Given the description of an element on the screen output the (x, y) to click on. 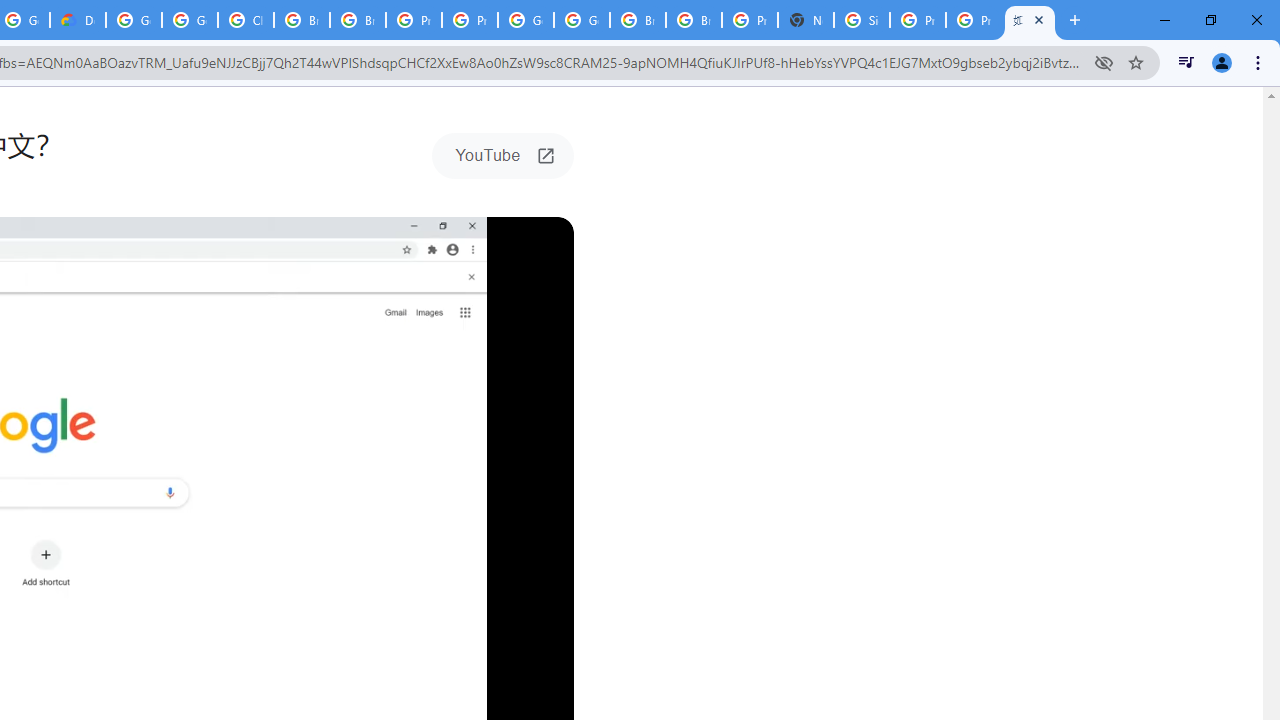
Google Cloud Platform (582, 20)
Browse Chrome as a guest - Computer - Google Chrome Help (637, 20)
Google Cloud Platform (134, 20)
New Tab (806, 20)
